Given the description of an element on the screen output the (x, y) to click on. 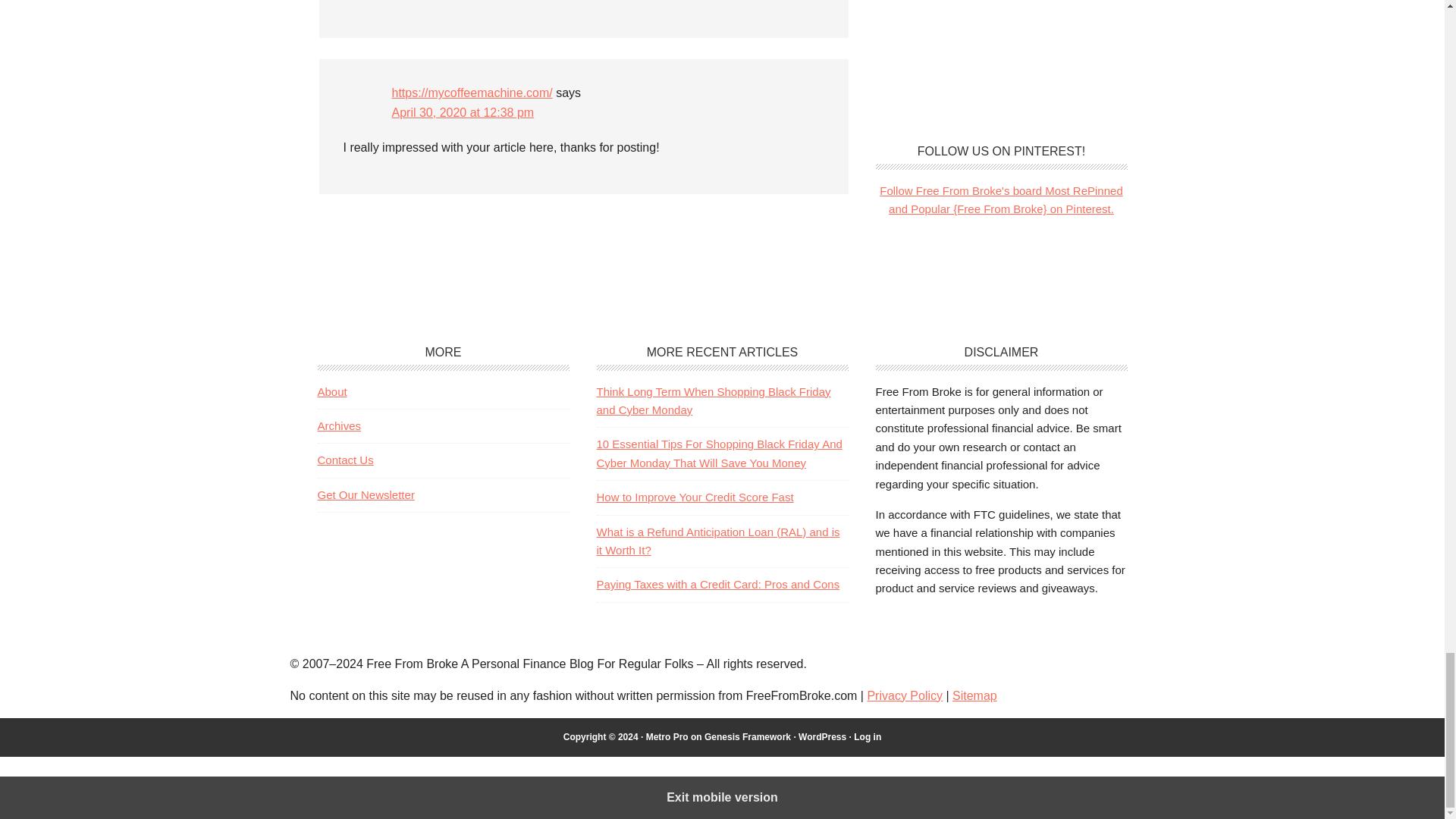
Look Paying Taxes with a Credit Card: Pros and Cons (717, 584)
April 30, 2020 at 12:38 pm (462, 112)
Look How to Improve Your Credit Score Fast (694, 496)
